Given the description of an element on the screen output the (x, y) to click on. 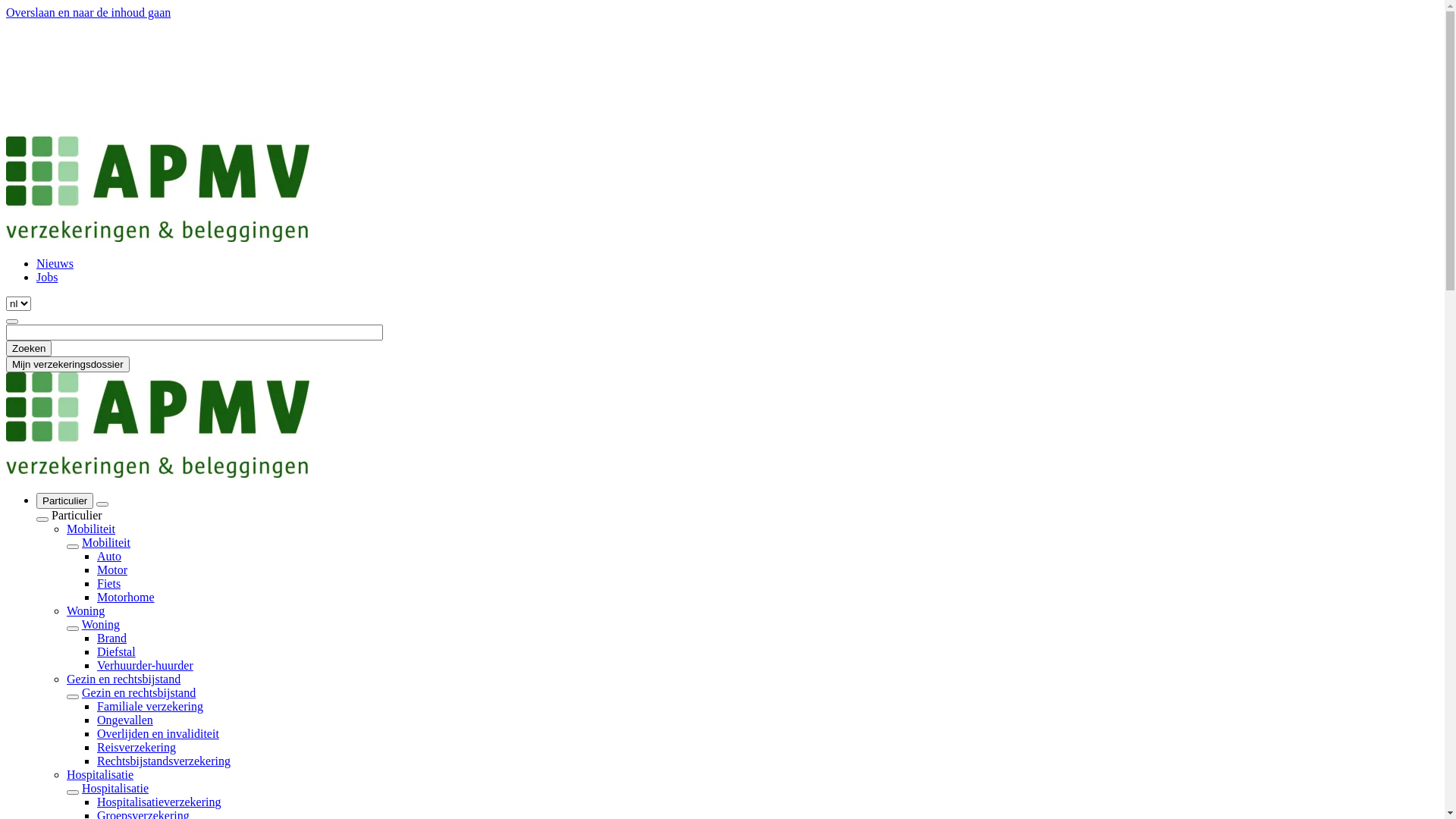
Nieuws Element type: text (54, 263)
Mobiliteit Element type: text (90, 528)
Mijn verzekeringsdossier Element type: text (67, 364)
Familiale verzekering Element type: text (150, 705)
Mobiliteit Element type: text (105, 542)
Brand Element type: text (111, 637)
Zoeken Element type: text (28, 348)
Hospitalisatieverzekering Element type: text (159, 801)
Jobs Element type: text (46, 276)
Rechtsbijstandsverzekering Element type: text (163, 760)
Diefstal Element type: text (116, 651)
Fiets Element type: text (108, 583)
Gezin en rechtsbijstand Element type: text (138, 692)
Motorhome Element type: text (125, 596)
Ongevallen Element type: text (125, 719)
Motor Element type: text (112, 569)
Reisverzekering Element type: text (136, 746)
Auto Element type: text (109, 555)
Overlijden en invaliditeit Element type: text (158, 733)
Gezin en rechtsbijstand Element type: text (123, 678)
Overslaan en naar de inhoud gaan Element type: text (88, 12)
Woning Element type: text (85, 610)
Hospitalisatie Element type: text (114, 787)
Verhuurder-huurder Element type: text (145, 664)
Hospitalisatie Element type: text (99, 774)
Woning Element type: text (100, 624)
Particulier Element type: text (64, 500)
